Given the description of an element on the screen output the (x, y) to click on. 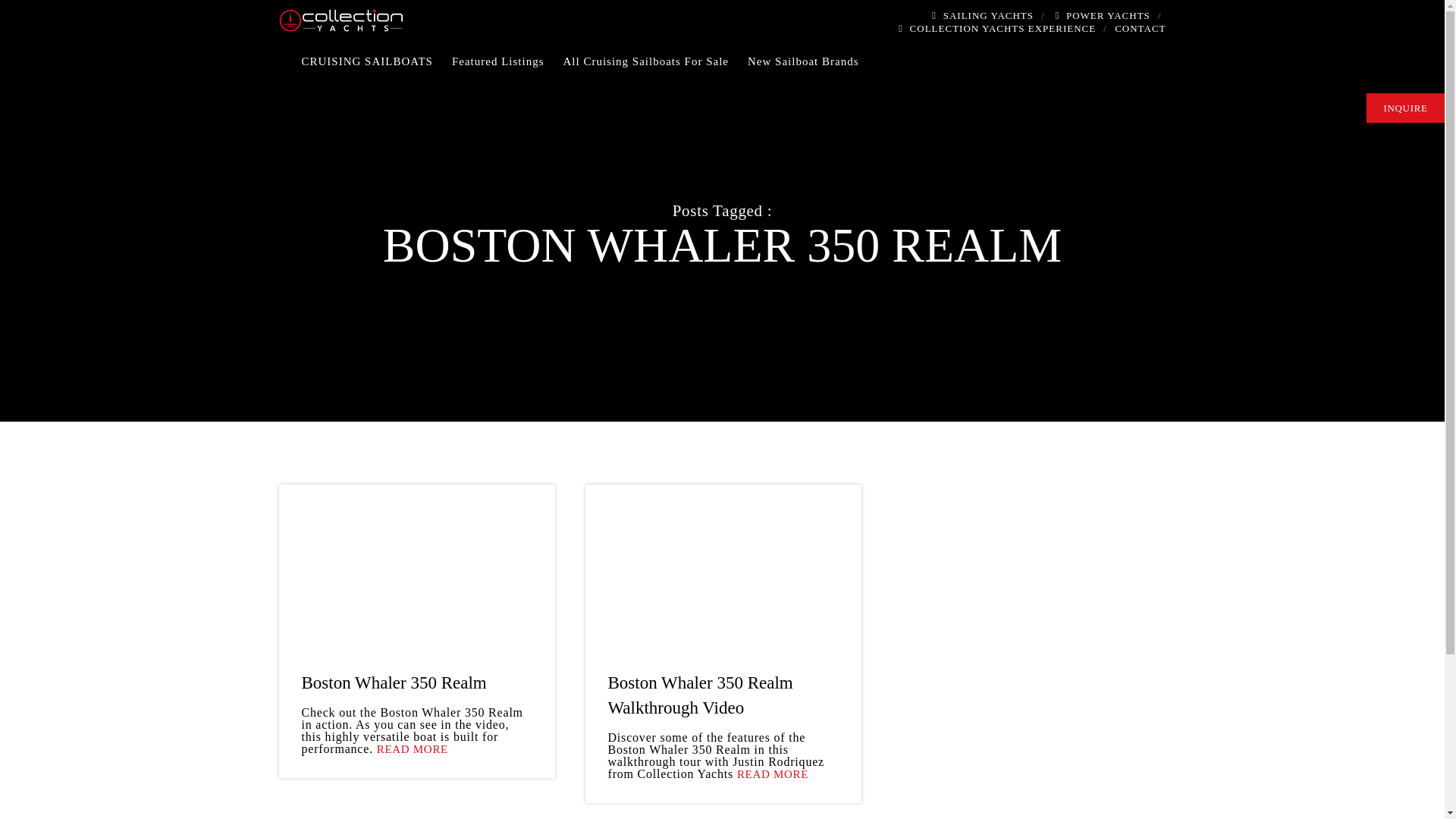
Boston Whaler 350 Realm (416, 561)
POWER YACHTS (1101, 15)
CONTACT (1140, 28)
New Sailboat Brands (812, 61)
Boston Whaler 350 Realm Walkthrough (723, 561)
SAILING YACHTS (981, 15)
All Cruising Sailboats For Sale (655, 61)
Featured Listings (507, 61)
CRUISING SAILBOATS (376, 61)
COLLECTION YACHTS EXPERIENCE (996, 28)
